Given the description of an element on the screen output the (x, y) to click on. 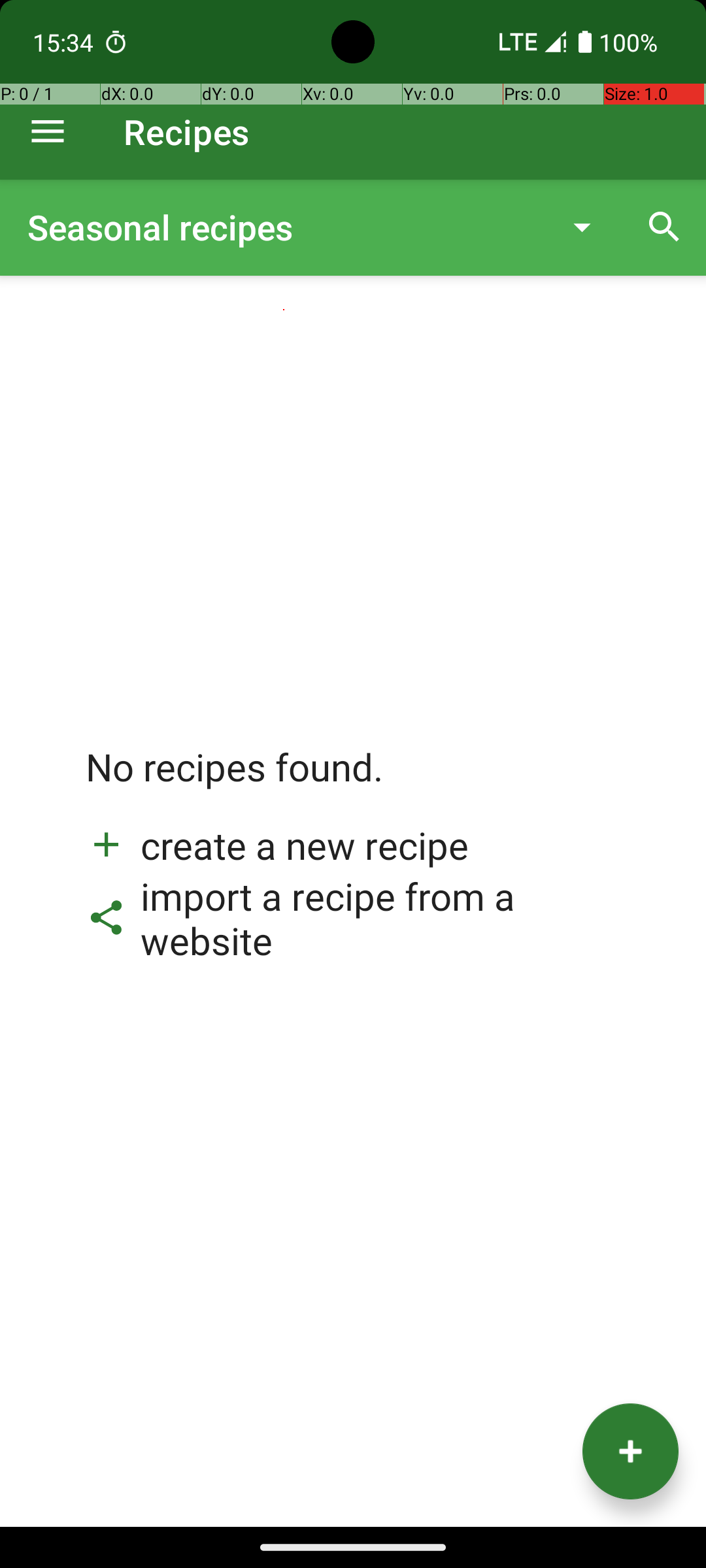
No recipes found. Element type: android.widget.TextView (234, 779)
create a new recipe Element type: android.widget.TextView (276, 844)
import a recipe from a website Element type: android.widget.TextView (352, 917)
